Given the description of an element on the screen output the (x, y) to click on. 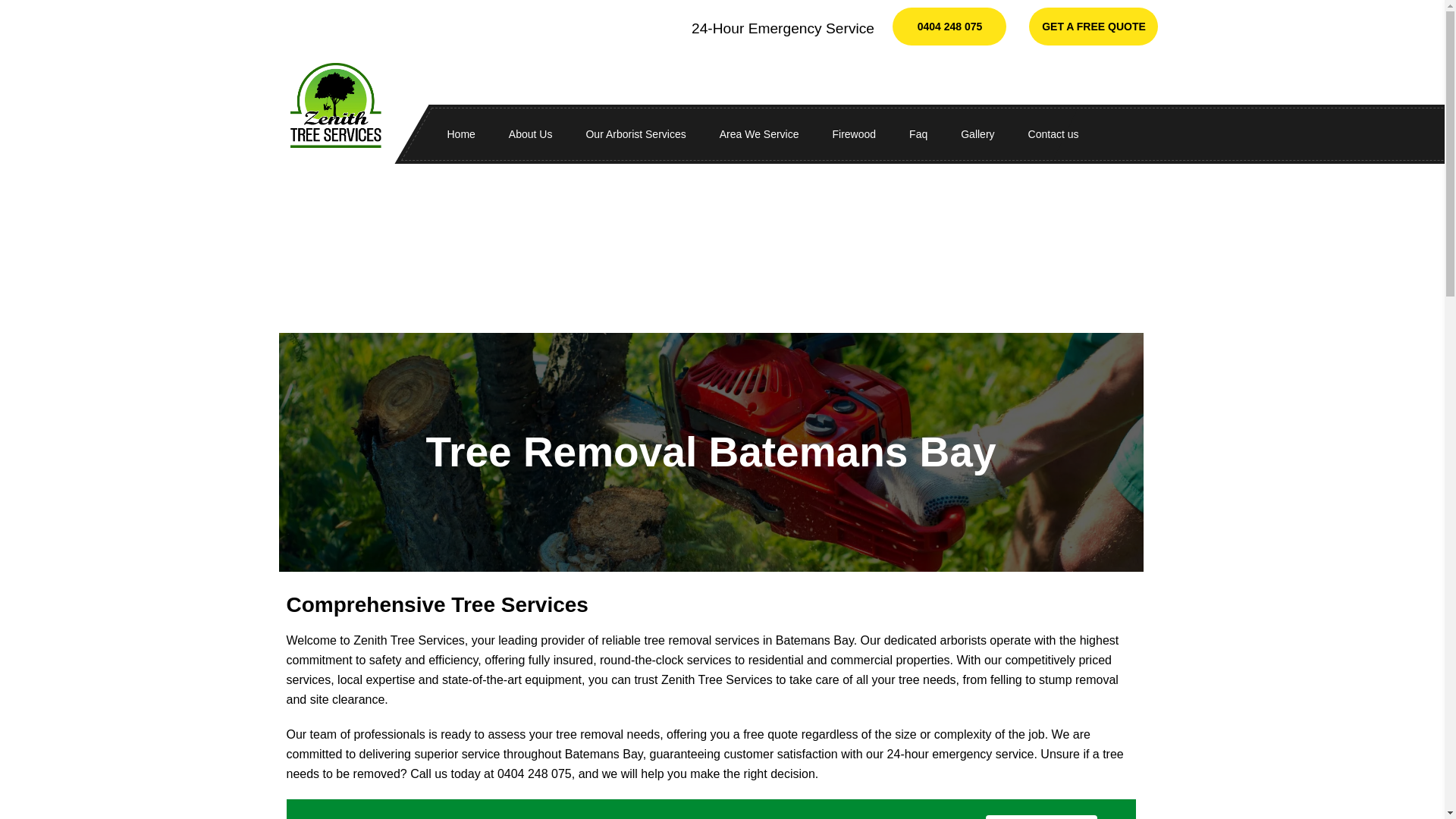
Land Clearing (787, 285)
Storm Damage (787, 364)
Storm Damage (787, 364)
Bushfire Protection and Breaks (787, 324)
Land Clearing (787, 285)
Contact us (1053, 133)
Our Arborist Services (635, 133)
Our Arborist Services (635, 133)
Bushfire Protection And Breaks (787, 324)
Home (461, 133)
